Given the description of an element on the screen output the (x, y) to click on. 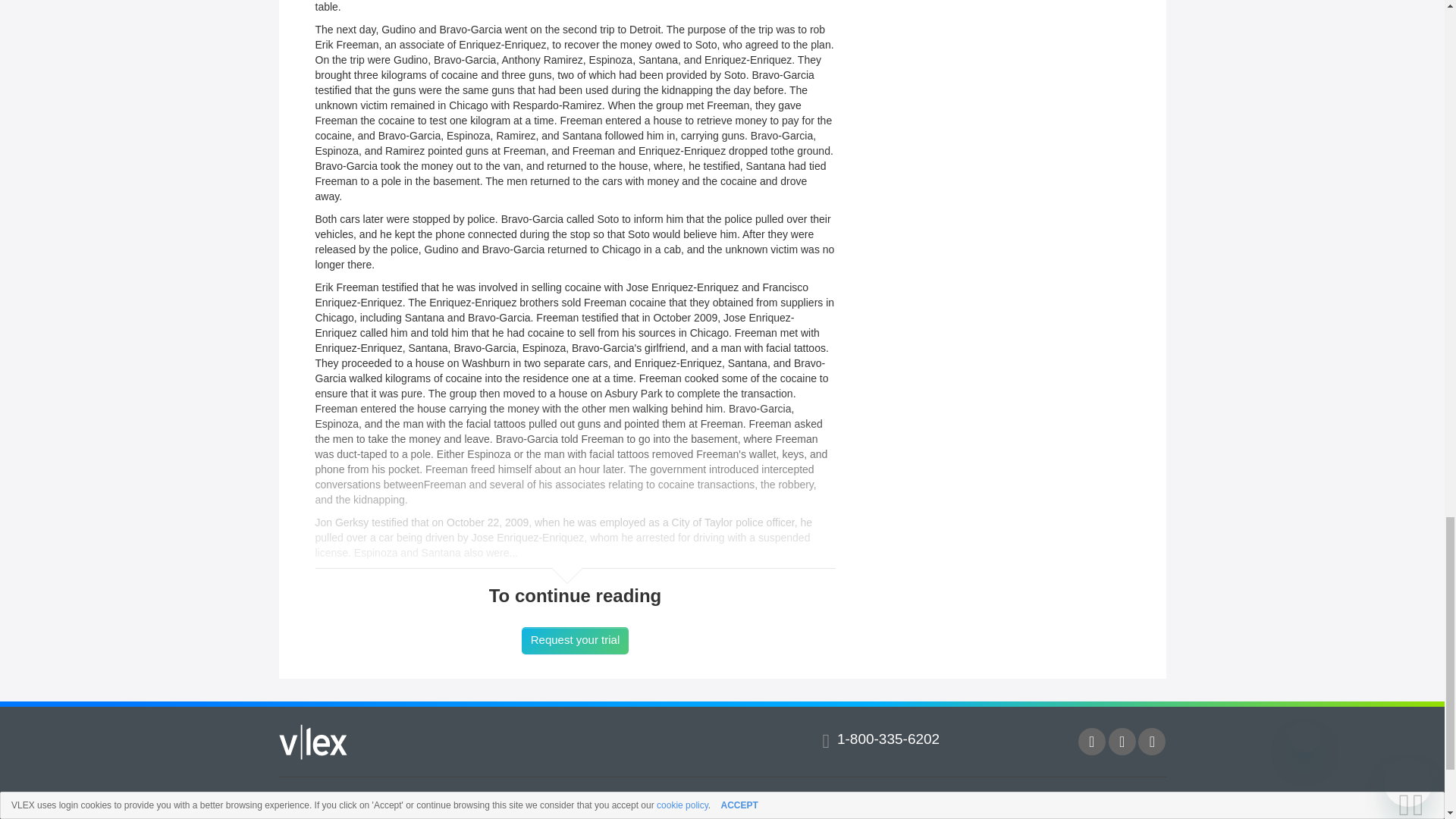
Legislation (302, 808)
Case Law (529, 808)
Case Law (529, 808)
vLex (313, 741)
Administrative Materials (790, 808)
Administrative Materials (790, 808)
Books and Journals (1011, 808)
Books and Journals (1011, 808)
Legislation (302, 808)
